Given the description of an element on the screen output the (x, y) to click on. 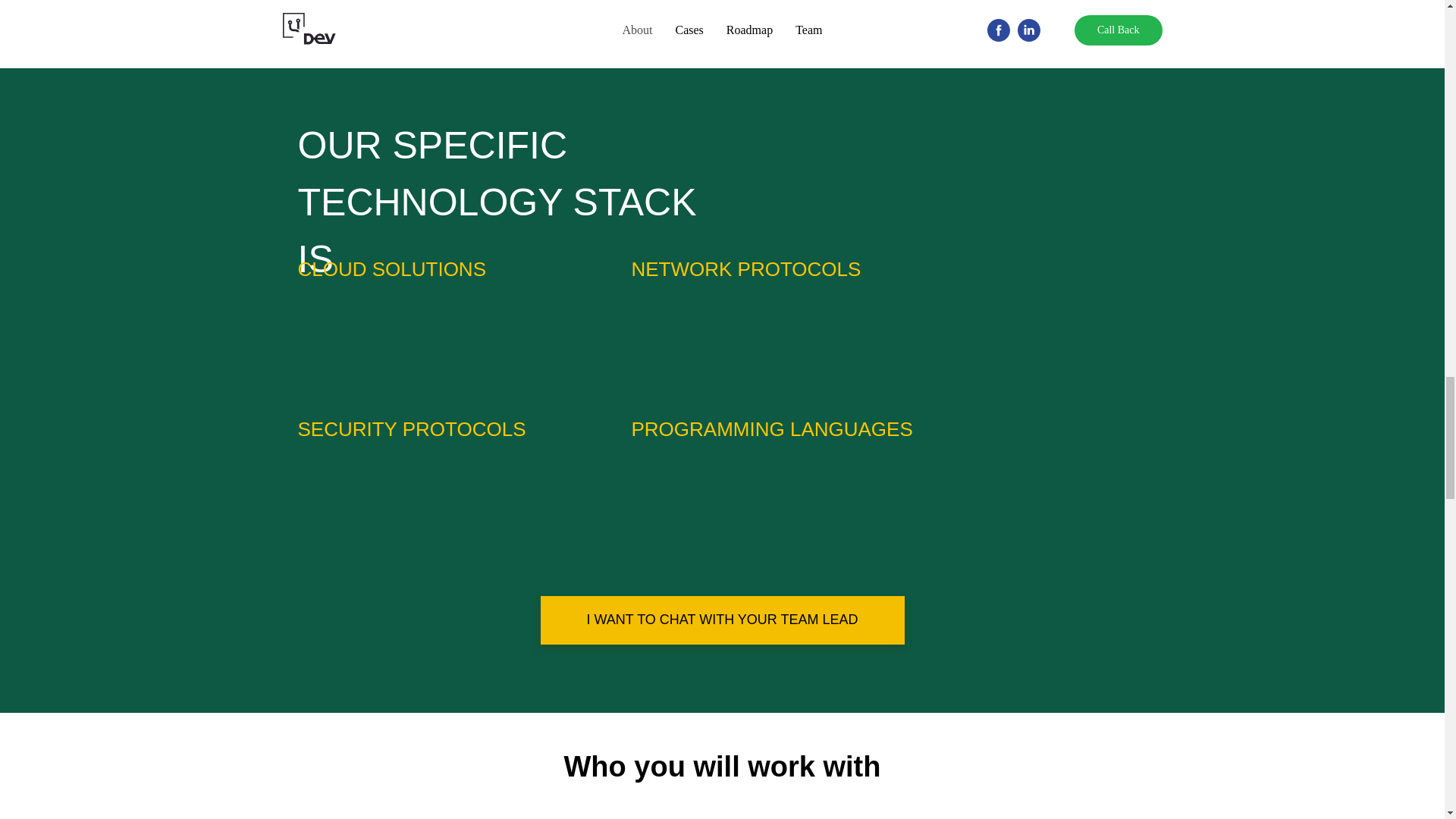
I WANT TO CHAT WITH YOUR TEAM LEAD (722, 620)
